Given the description of an element on the screen output the (x, y) to click on. 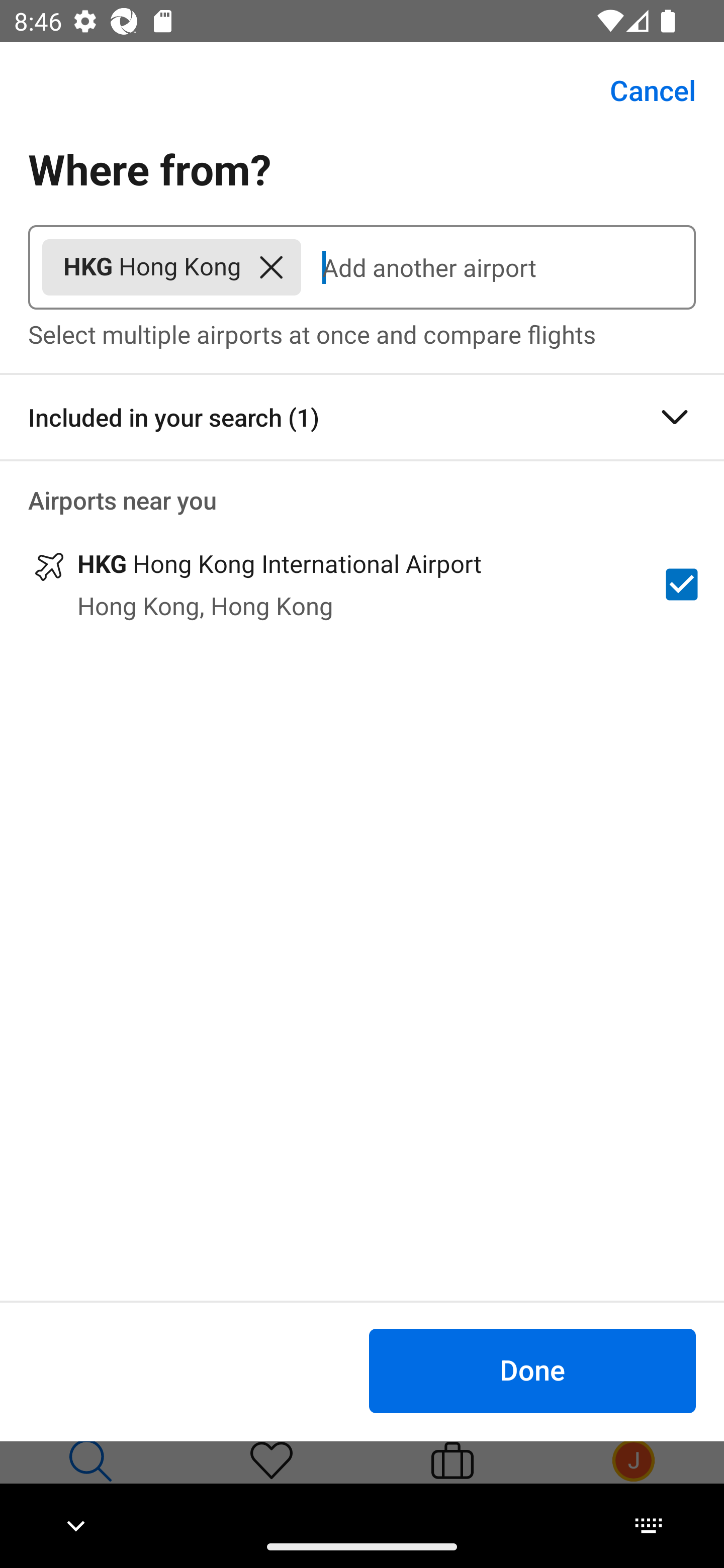
Cancel (641, 90)
Add another airport (498, 266)
HKG Hong Kong Remove HKG Hong Kong (171, 266)
Included in your search (1) (362, 416)
Done (532, 1370)
